Given the description of an element on the screen output the (x, y) to click on. 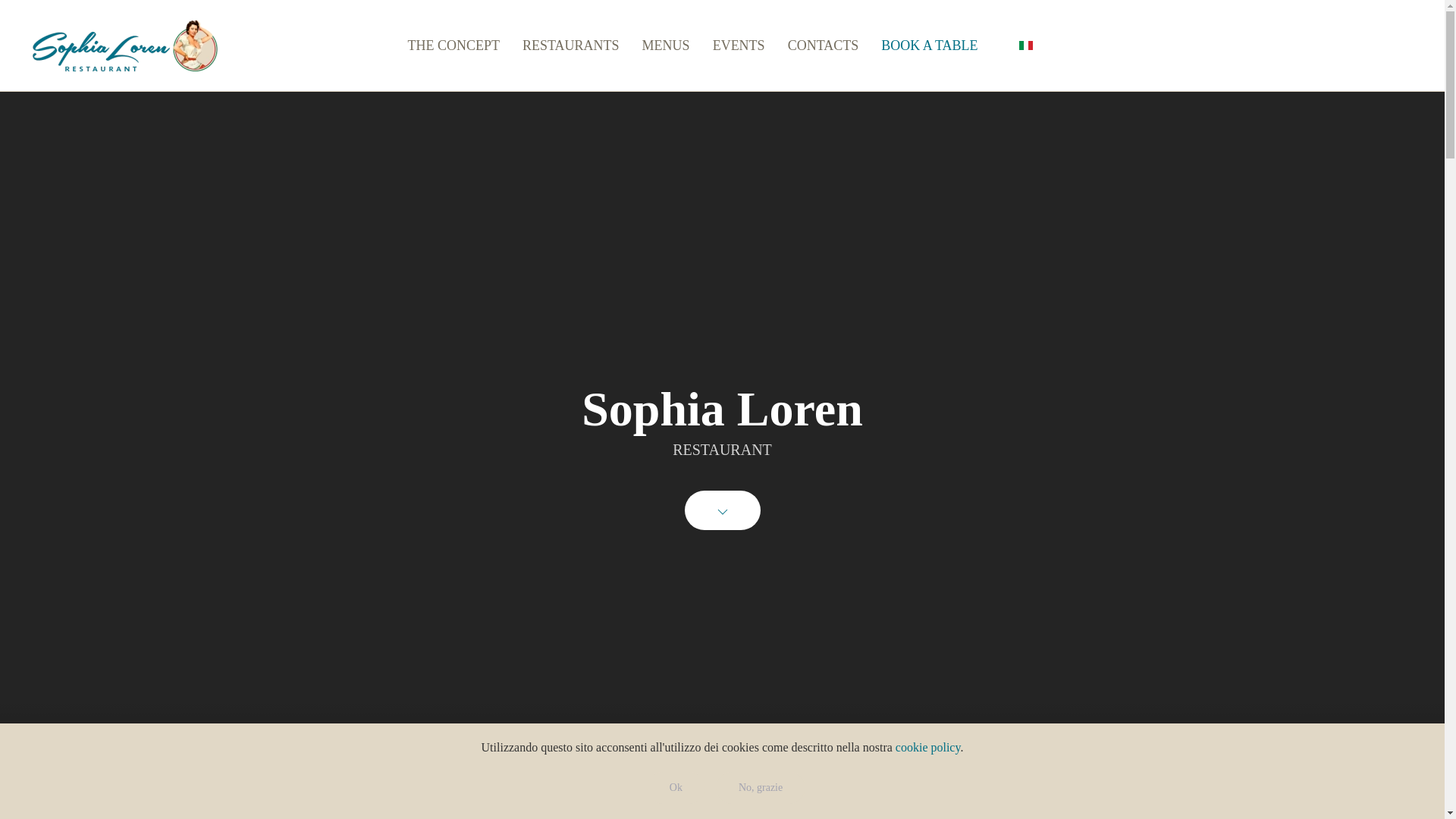
RESTAURANTS (570, 45)
THE CONCEPT (454, 45)
Italiano (1025, 44)
